Given the description of an element on the screen output the (x, y) to click on. 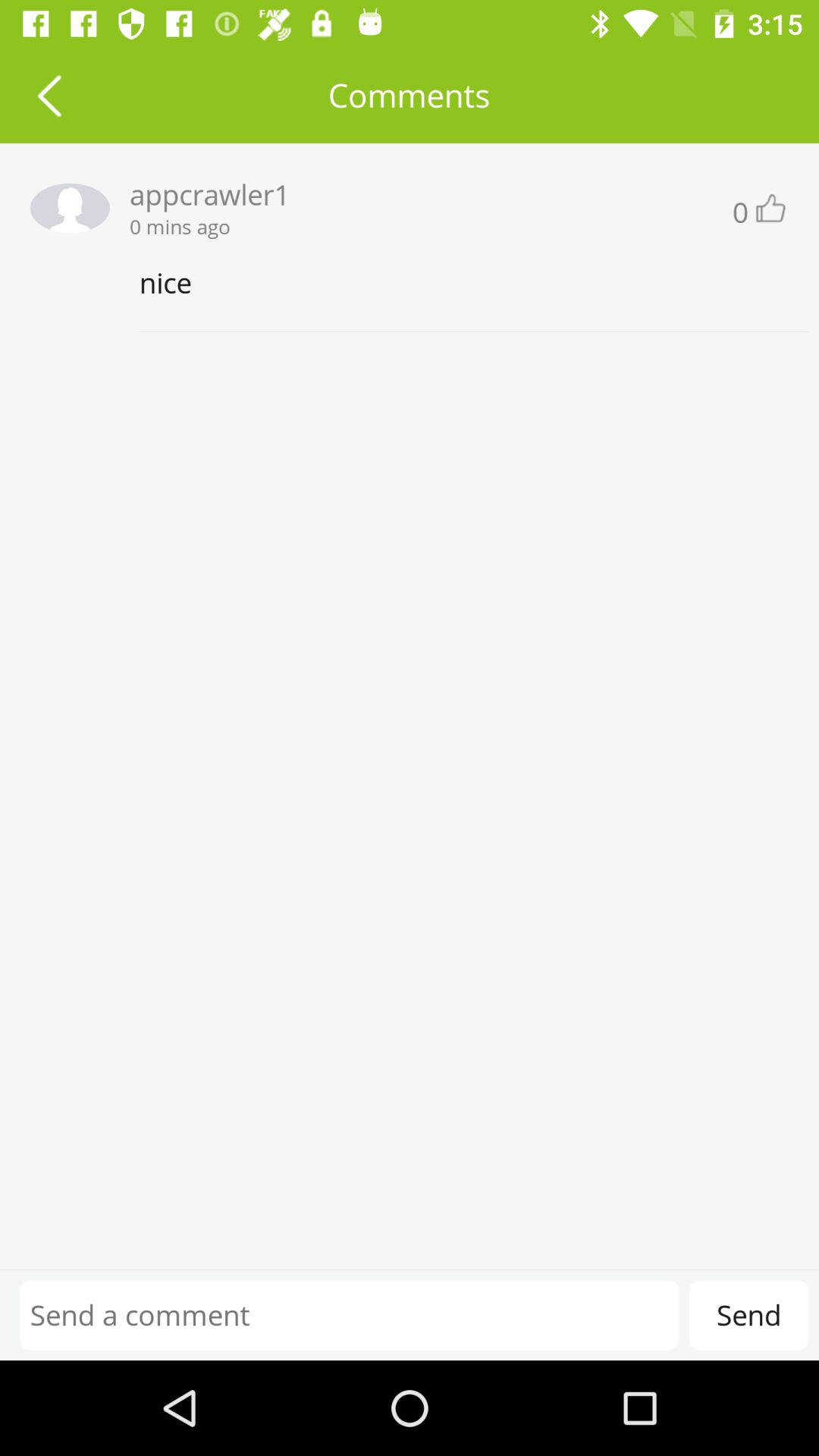
put a like on the correspondent element (768, 207)
